Given the description of an element on the screen output the (x, y) to click on. 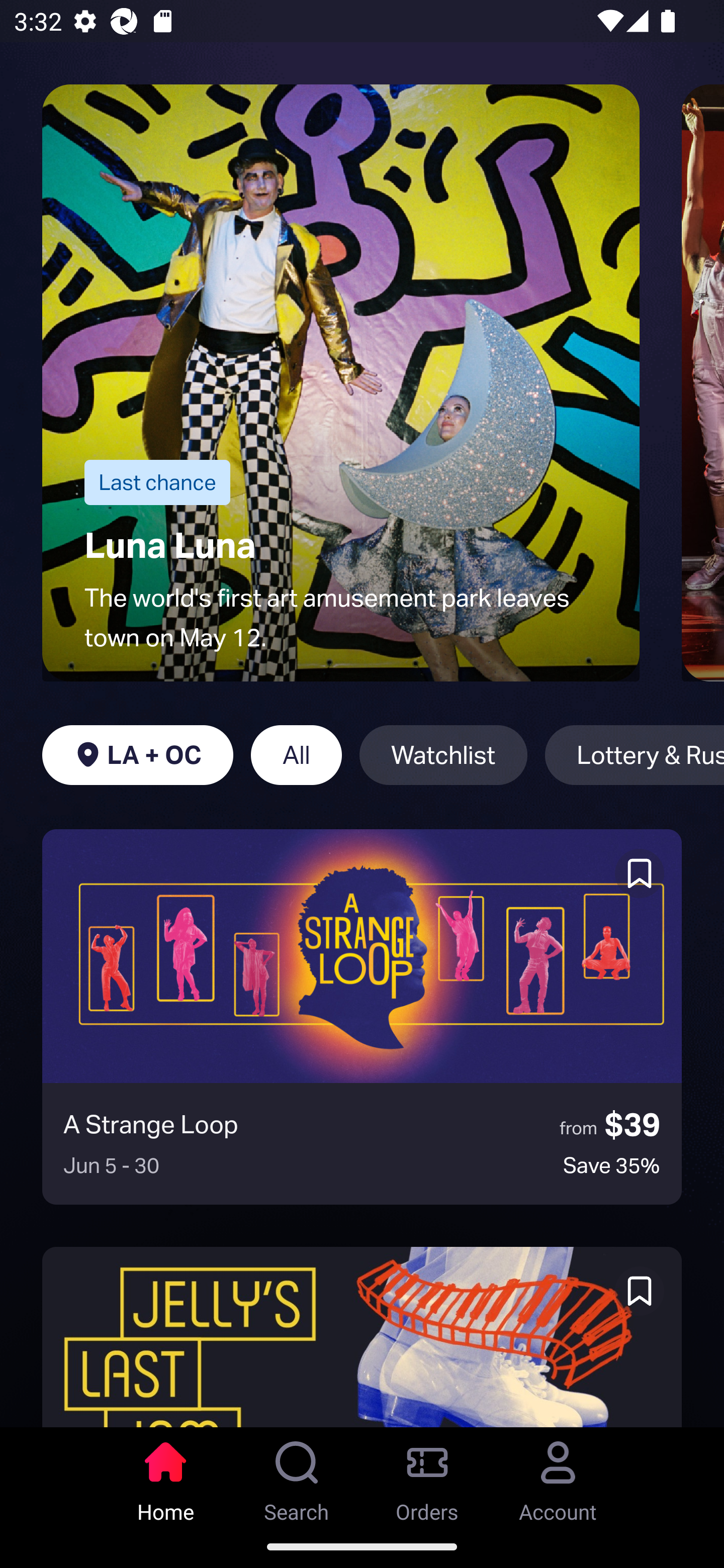
LA + OC (137, 754)
All (296, 754)
Watchlist (443, 754)
Lottery & Rush (634, 754)
A Strange Loop from $39 Jun 5 - 30 Save 35% (361, 1016)
Search (296, 1475)
Orders (427, 1475)
Account (558, 1475)
